Given the description of an element on the screen output the (x, y) to click on. 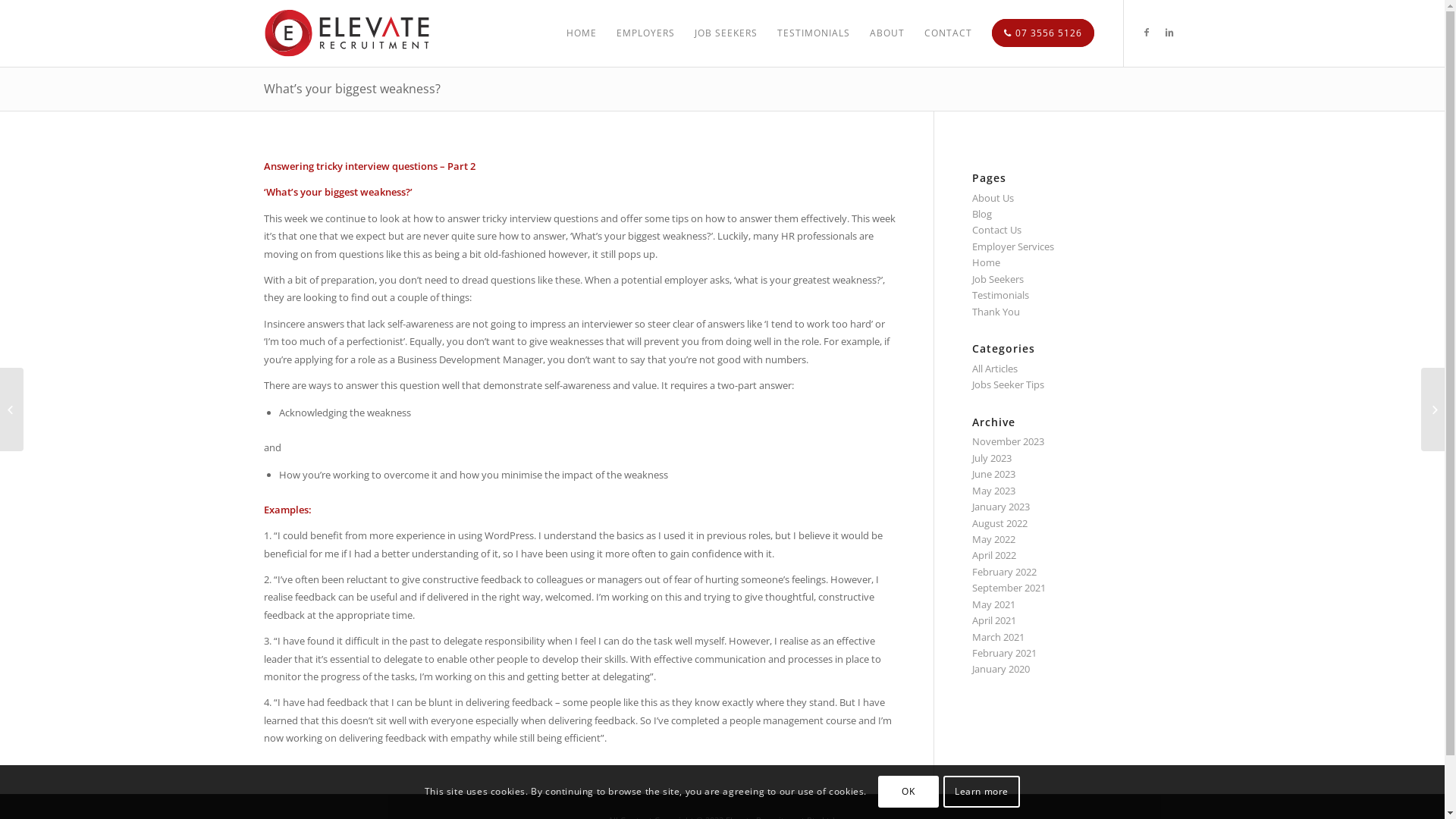
May 2023 Element type: text (993, 490)
Home Element type: text (986, 262)
Blog Element type: text (981, 213)
CONTACT Element type: text (948, 33)
Learn more Element type: text (981, 791)
February 2021 Element type: text (1004, 652)
July 2023 Element type: text (991, 457)
EMPLOYERS Element type: text (645, 33)
Job Seekers Element type: text (997, 278)
Jobs Seeker Tips Element type: text (1008, 384)
May 2022 Element type: text (993, 539)
January 2020 Element type: text (1000, 668)
May 2021 Element type: text (993, 604)
March 2021 Element type: text (998, 636)
September 2021 Element type: text (1008, 587)
February 2022 Element type: text (1004, 571)
Contact Us Element type: text (996, 229)
August 2022 Element type: text (999, 523)
Facebook Element type: hover (1146, 32)
ABOUT Element type: text (886, 33)
TESTIMONIALS Element type: text (813, 33)
April 2022 Element type: text (994, 554)
Testimonials Element type: text (1000, 294)
OK Element type: text (908, 791)
June 2023 Element type: text (993, 473)
Employer Services Element type: text (1013, 246)
November 2023 Element type: text (1008, 441)
HOME Element type: text (581, 33)
January 2023 Element type: text (1000, 506)
Thank You Element type: text (995, 311)
Linkedin Element type: hover (1169, 32)
All Articles Element type: text (994, 368)
07 3556 5126 Element type: text (1042, 33)
JOB SEEKERS Element type: text (725, 33)
April 2021 Element type: text (994, 620)
About Us Element type: text (992, 197)
